Given the description of an element on the screen output the (x, y) to click on. 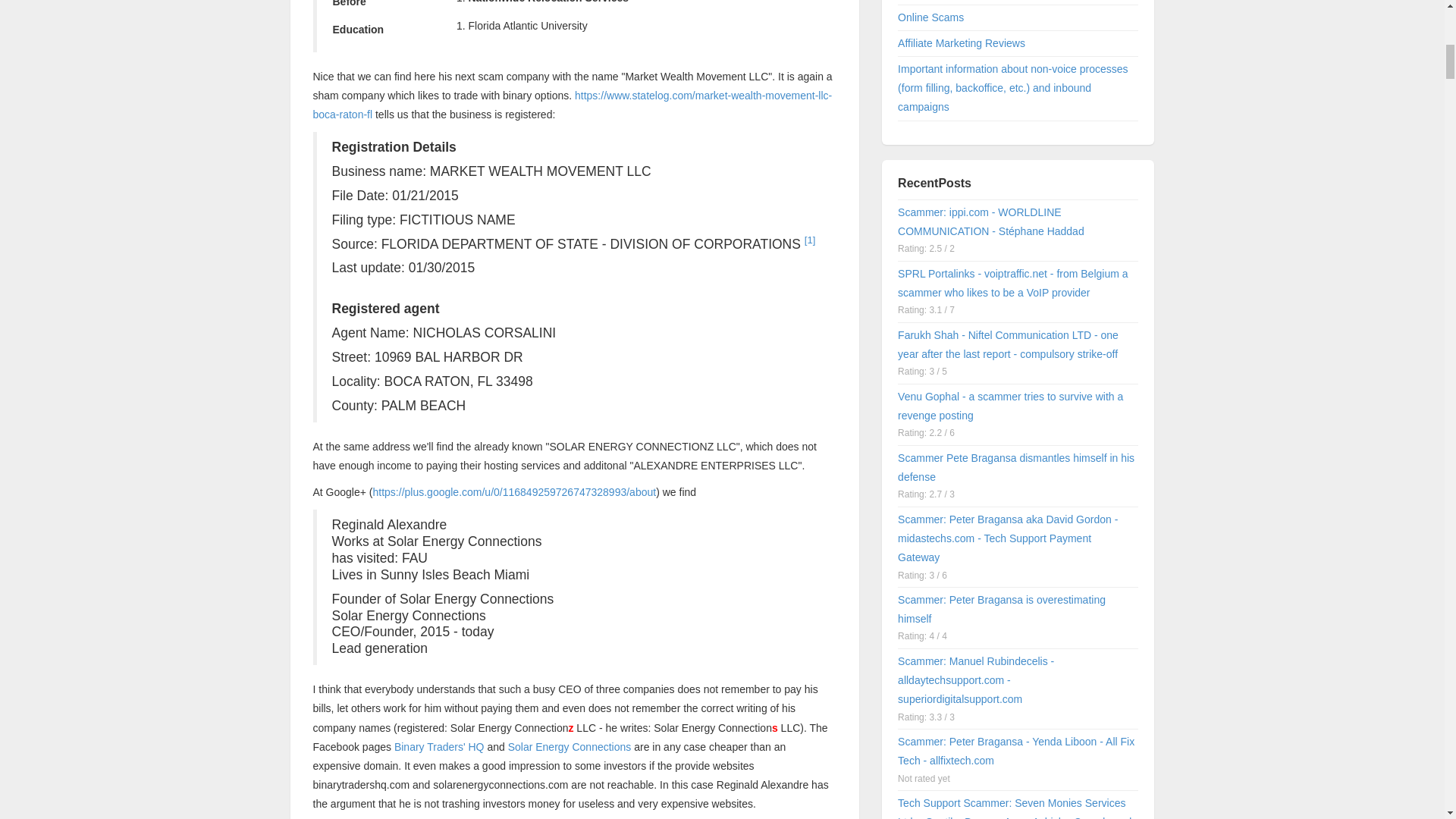
Binary Traders' HQ (439, 746)
Solar Energy Connections (569, 746)
